Given the description of an element on the screen output the (x, y) to click on. 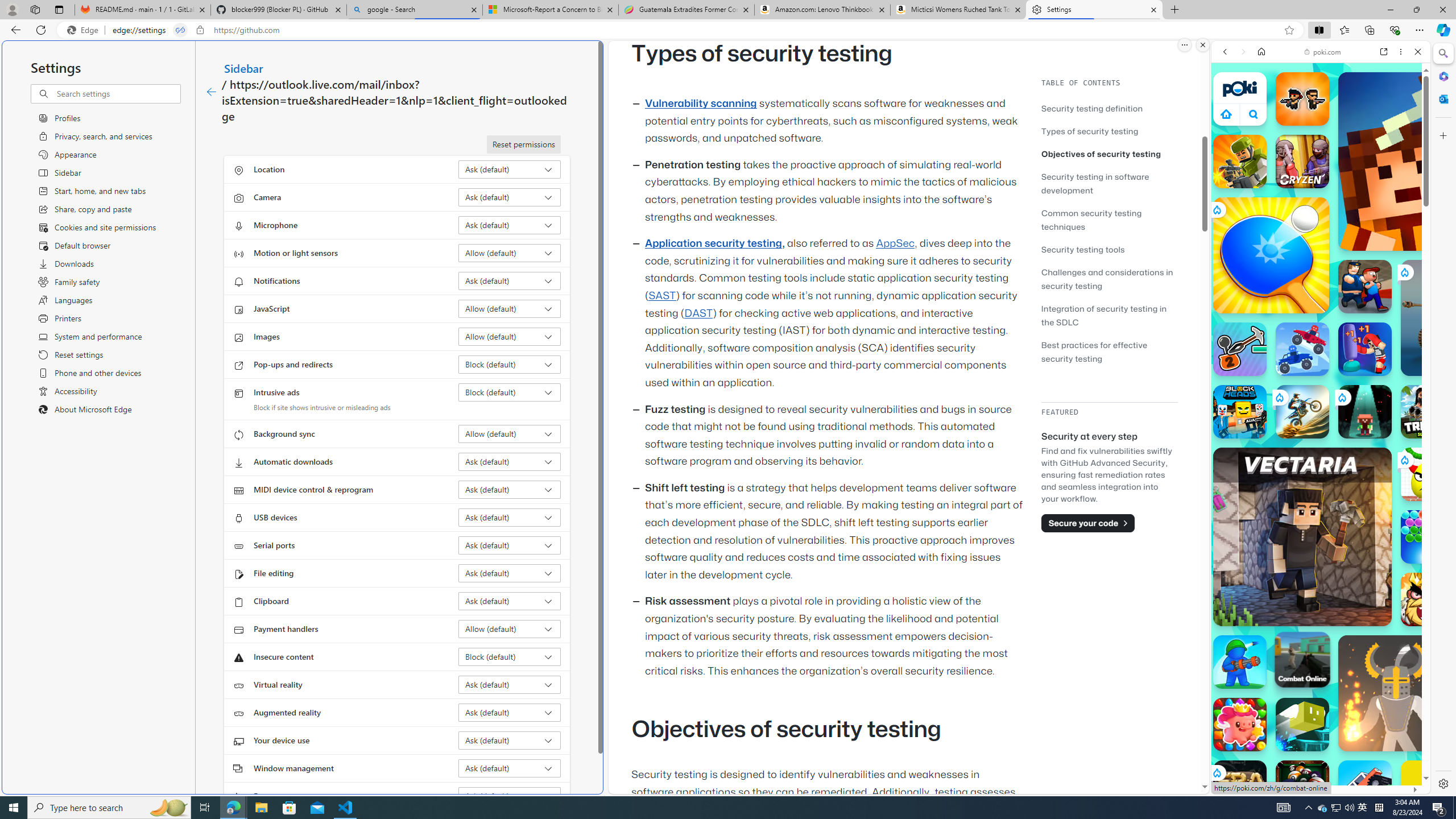
Ragdoll Hit (1396, 693)
Hills of Steel (1264, 523)
Zombie Rush Zombie Rush (1302, 98)
Tribals.io Tribals.io (1427, 411)
Stickman Climb 2 Stickman Climb 2 (1239, 348)
Your device use Ask (default) (509, 740)
poki.com (1322, 51)
Like a King Like a King (1427, 599)
Application security testing (713, 243)
Pop-ups and redirects Block (default) (509, 364)
